Given the description of an element on the screen output the (x, y) to click on. 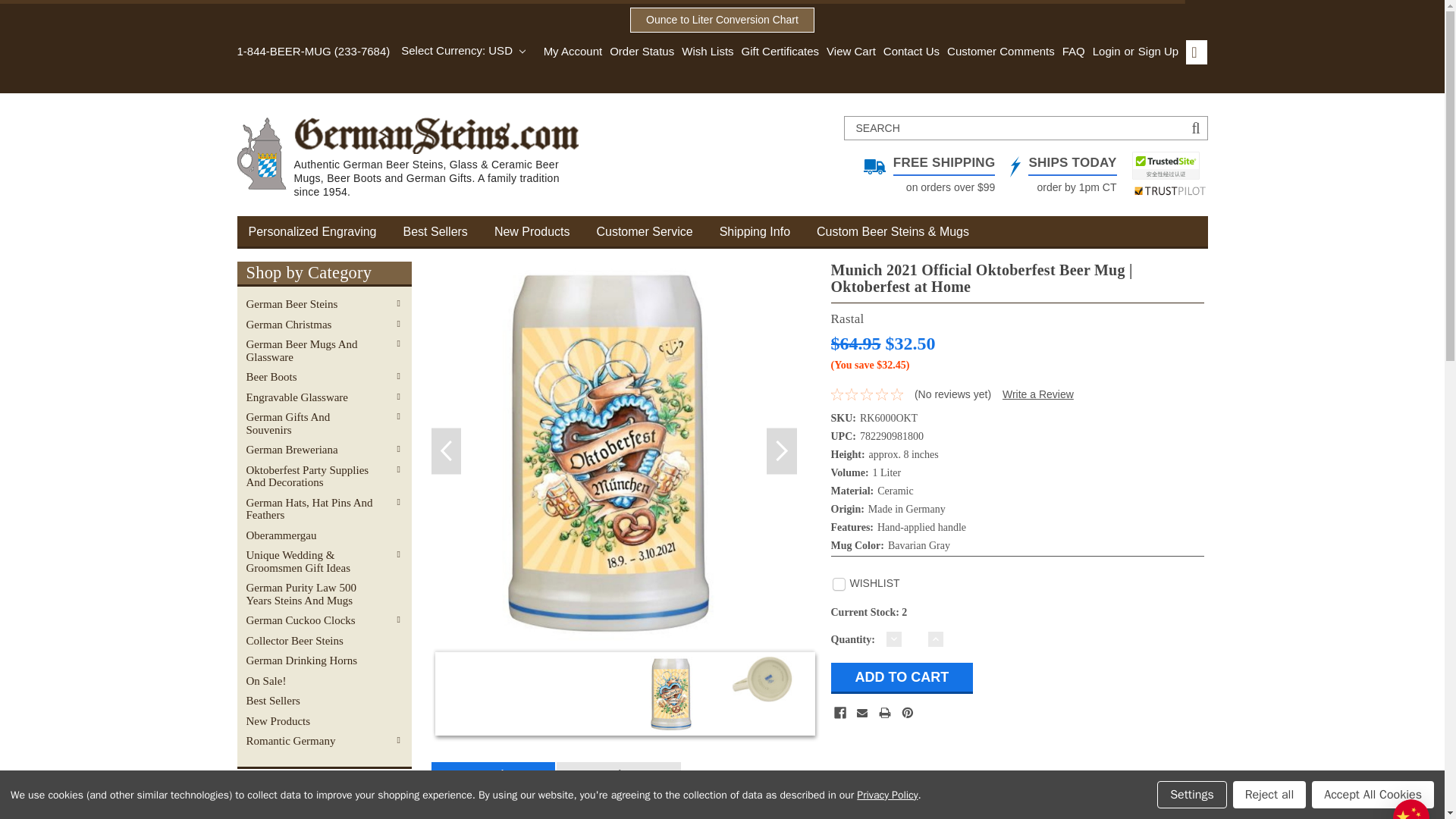
Wish Lists (703, 51)
Sign Up (1155, 51)
Free and Same Day shipping available, see full details (1055, 174)
Ounce to Liter Conversion Chart (721, 19)
Customer Comments (996, 51)
Select Currency: USD (463, 50)
New German made steins and other gifts arrive often (545, 231)
Free and Same Day shipping available, see full details (921, 174)
TrustedSite Certified (1165, 165)
View Cart (847, 51)
Gift Certificates (776, 51)
1 (914, 638)
